Given the description of an element on the screen output the (x, y) to click on. 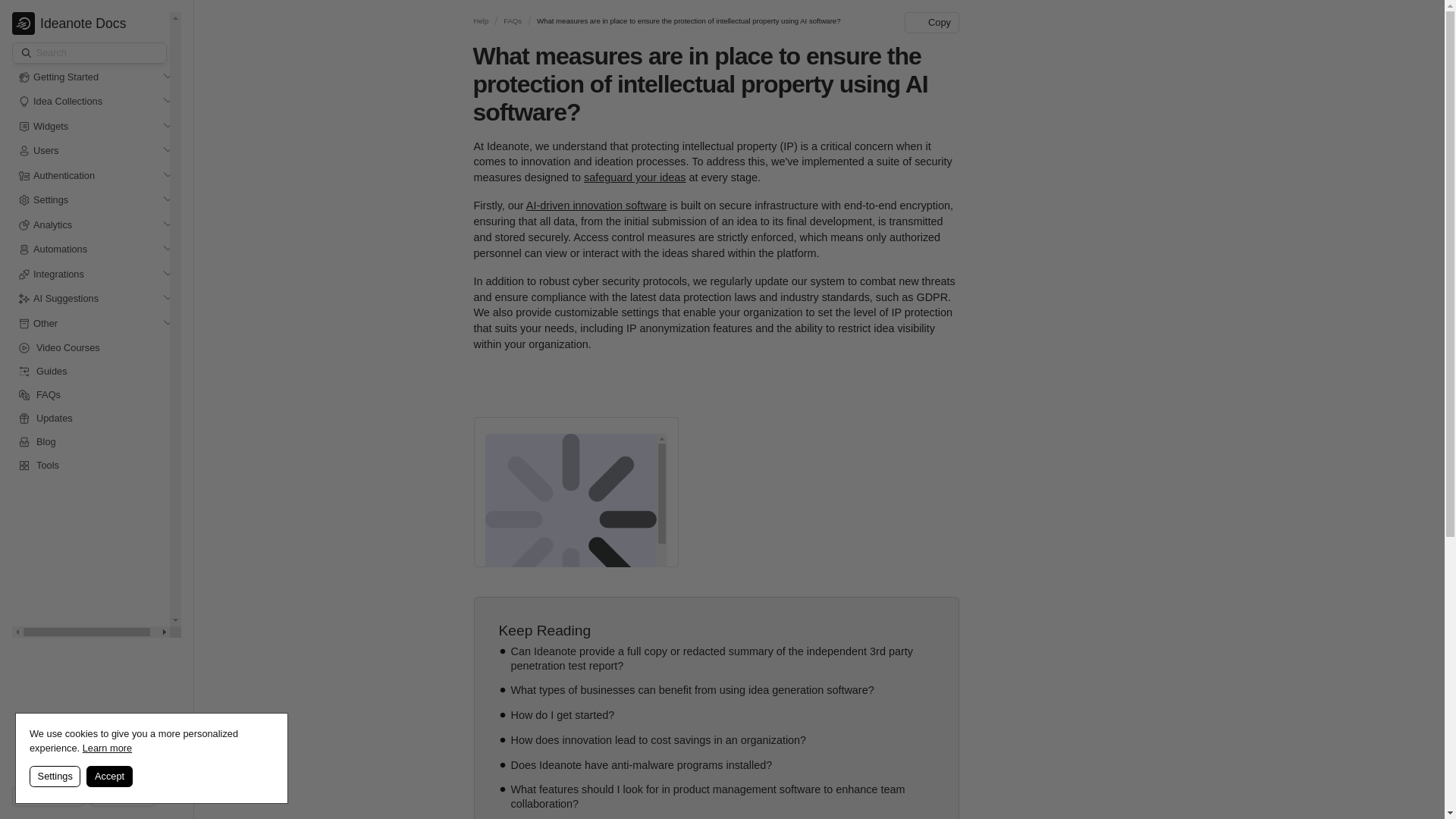
Ideanote Docs (68, 23)
Idea Collection Widget (585, 513)
Authentication (63, 175)
Users (45, 151)
Getting Started (66, 77)
Widgets (50, 126)
Idea Collections (67, 101)
